Given the description of an element on the screen output the (x, y) to click on. 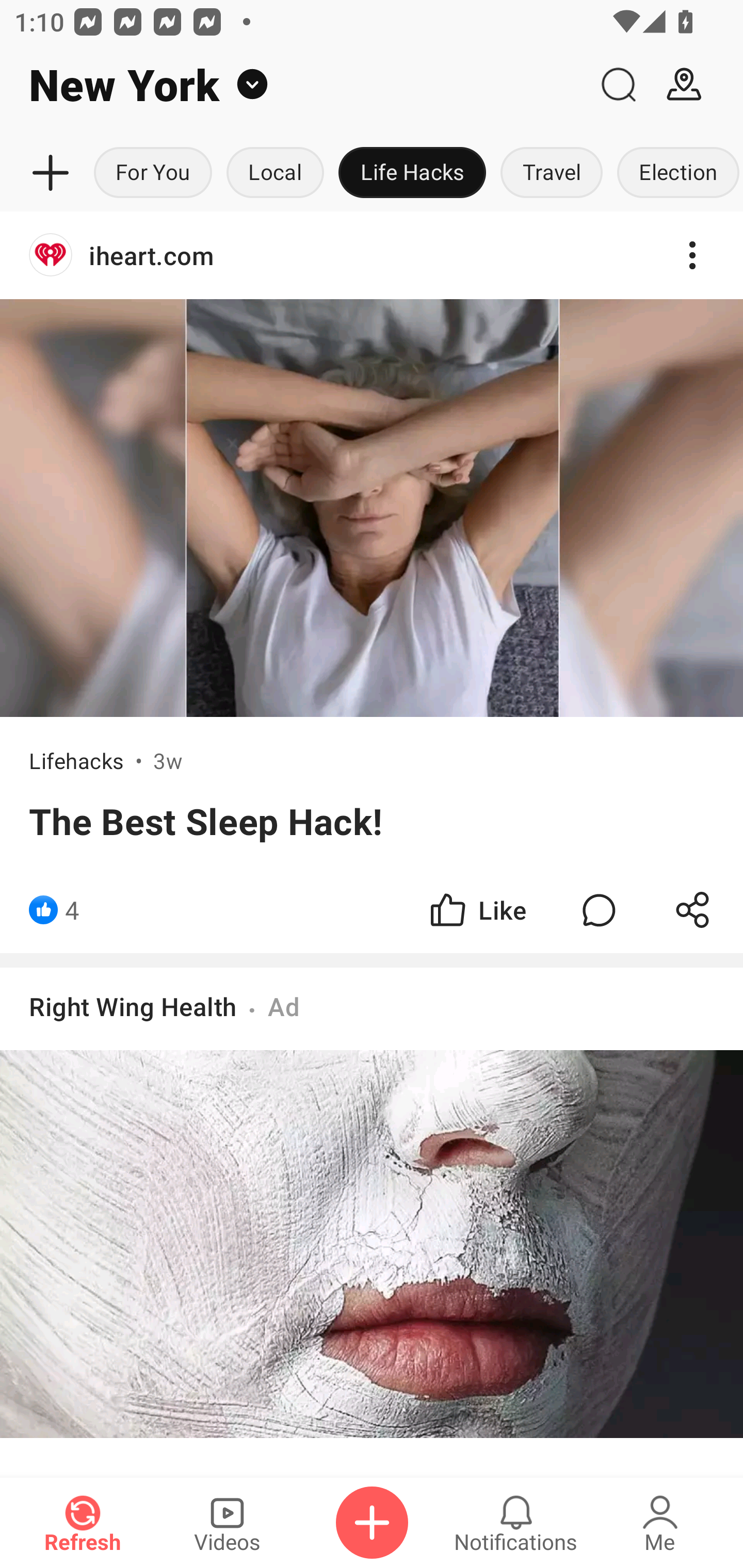
New York (292, 84)
For You (152, 172)
Local (275, 172)
Life Hacks (412, 172)
Travel (551, 172)
Election (676, 172)
iheart.com (371, 255)
4 (72, 910)
Like (476, 910)
Right Wing Health (132, 1006)
Videos (227, 1522)
Notifications (516, 1522)
Me (659, 1522)
